Given the description of an element on the screen output the (x, y) to click on. 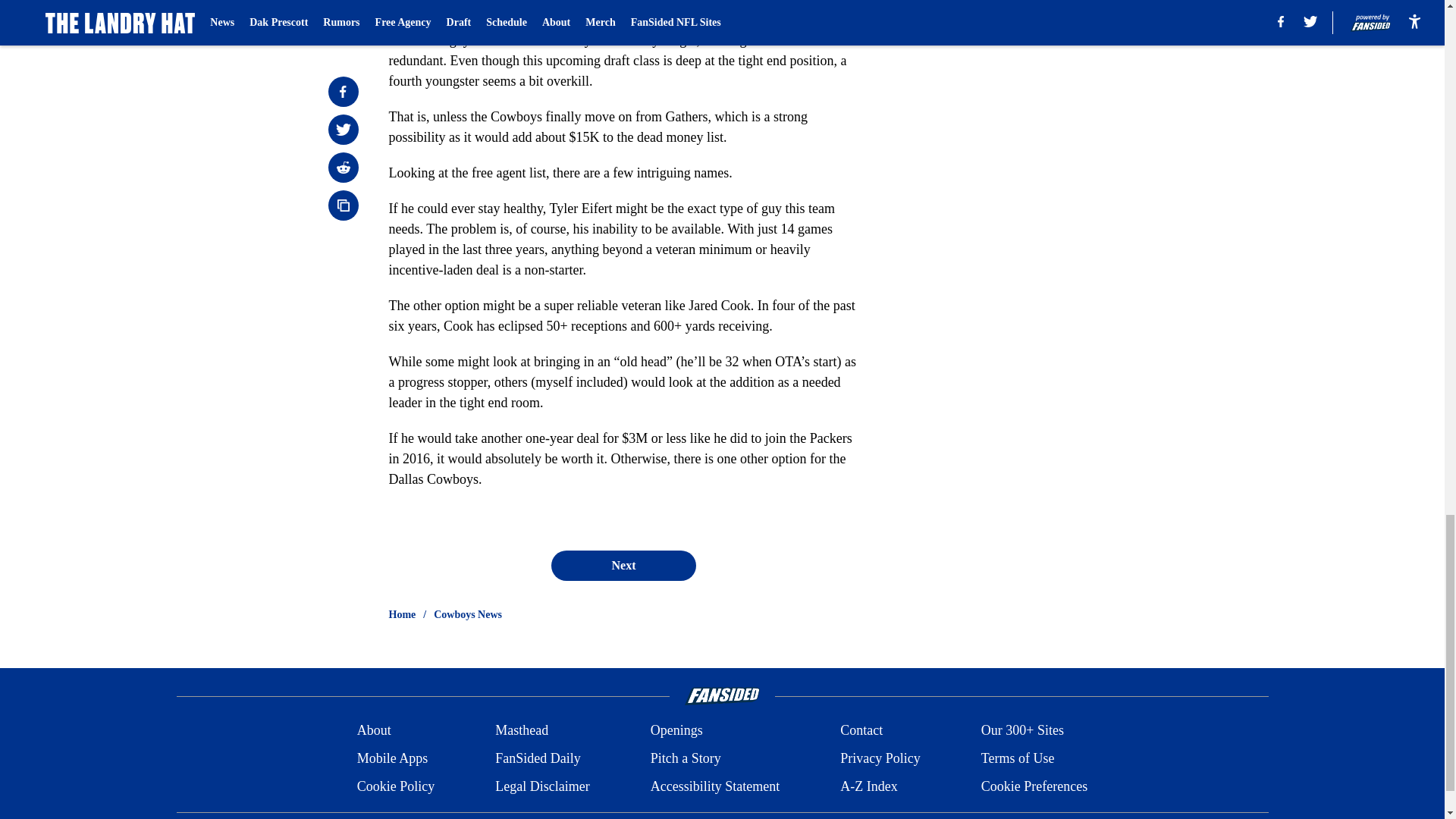
Home (401, 614)
Privacy Policy (880, 758)
Cowboys News (467, 614)
Cookie Policy (395, 786)
Contact (861, 730)
FanSided Daily (537, 758)
Openings (676, 730)
Pitch a Story (685, 758)
Masthead (521, 730)
Mobile Apps (392, 758)
Legal Disclaimer (542, 786)
About (373, 730)
Next (622, 565)
Terms of Use (1017, 758)
